Given the description of an element on the screen output the (x, y) to click on. 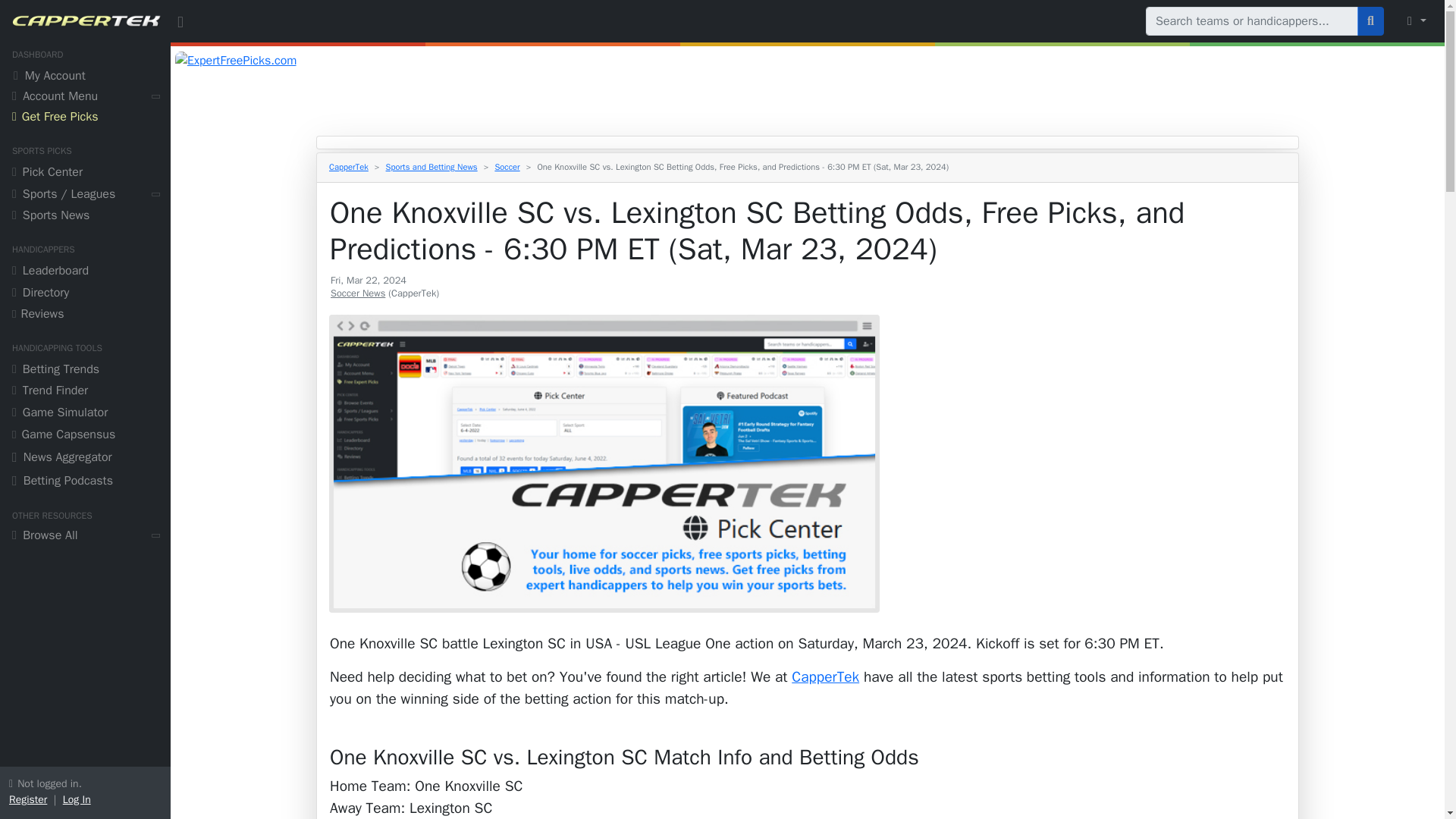
News Aggregator (85, 458)
My Account (85, 77)
Betting Podcasts (85, 482)
Browse All (85, 536)
Account Menu (85, 97)
Directory (85, 294)
Game Simulator (85, 414)
Betting Trends (85, 371)
Reviews (85, 315)
Pick Center (85, 173)
Trend Finder (85, 392)
Sports News (85, 217)
Game Capsensus (85, 436)
Get Free Picks (85, 118)
Leaderboard (85, 272)
